Given the description of an element on the screen output the (x, y) to click on. 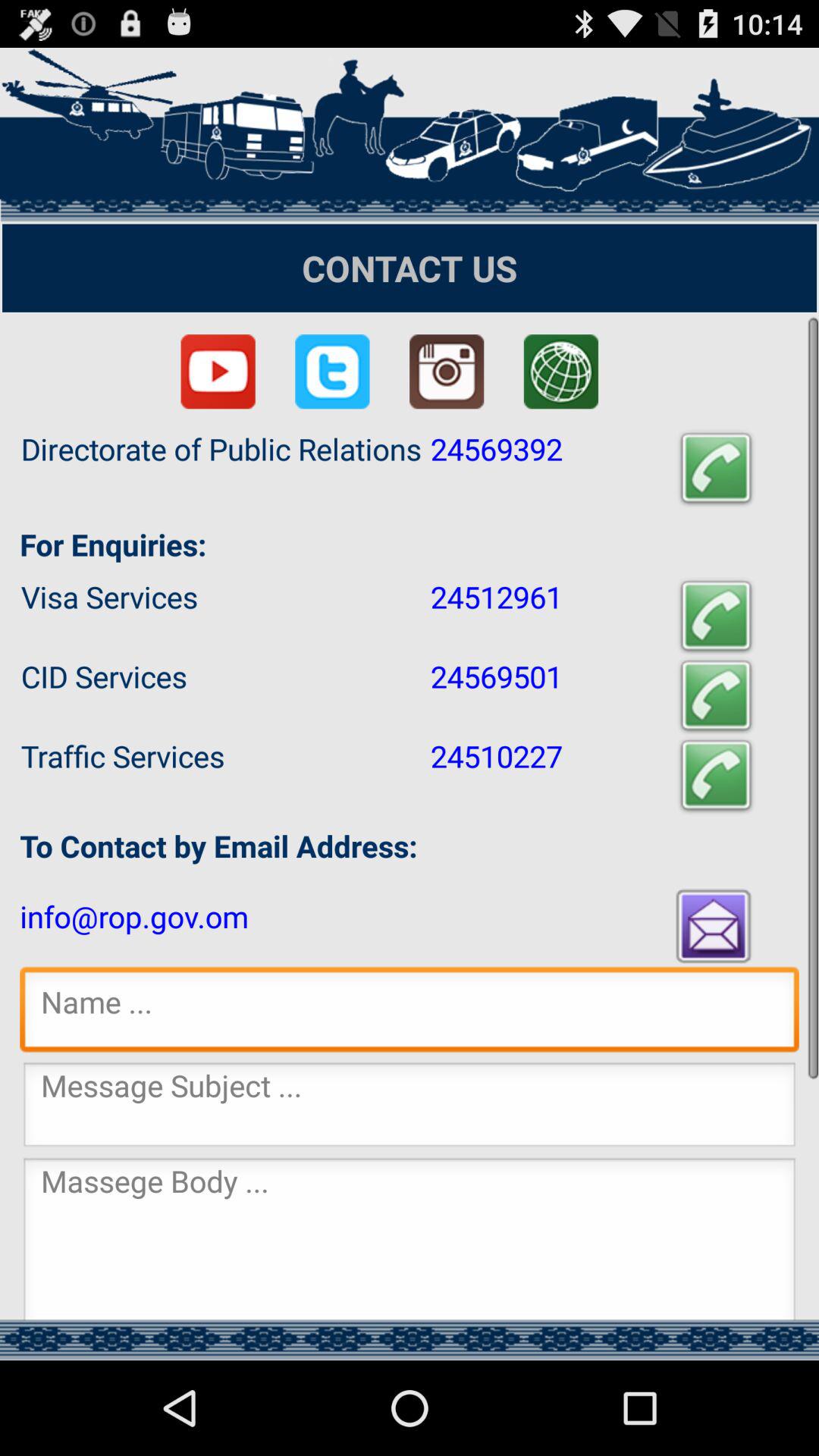
call number (716, 468)
